Given the description of an element on the screen output the (x, y) to click on. 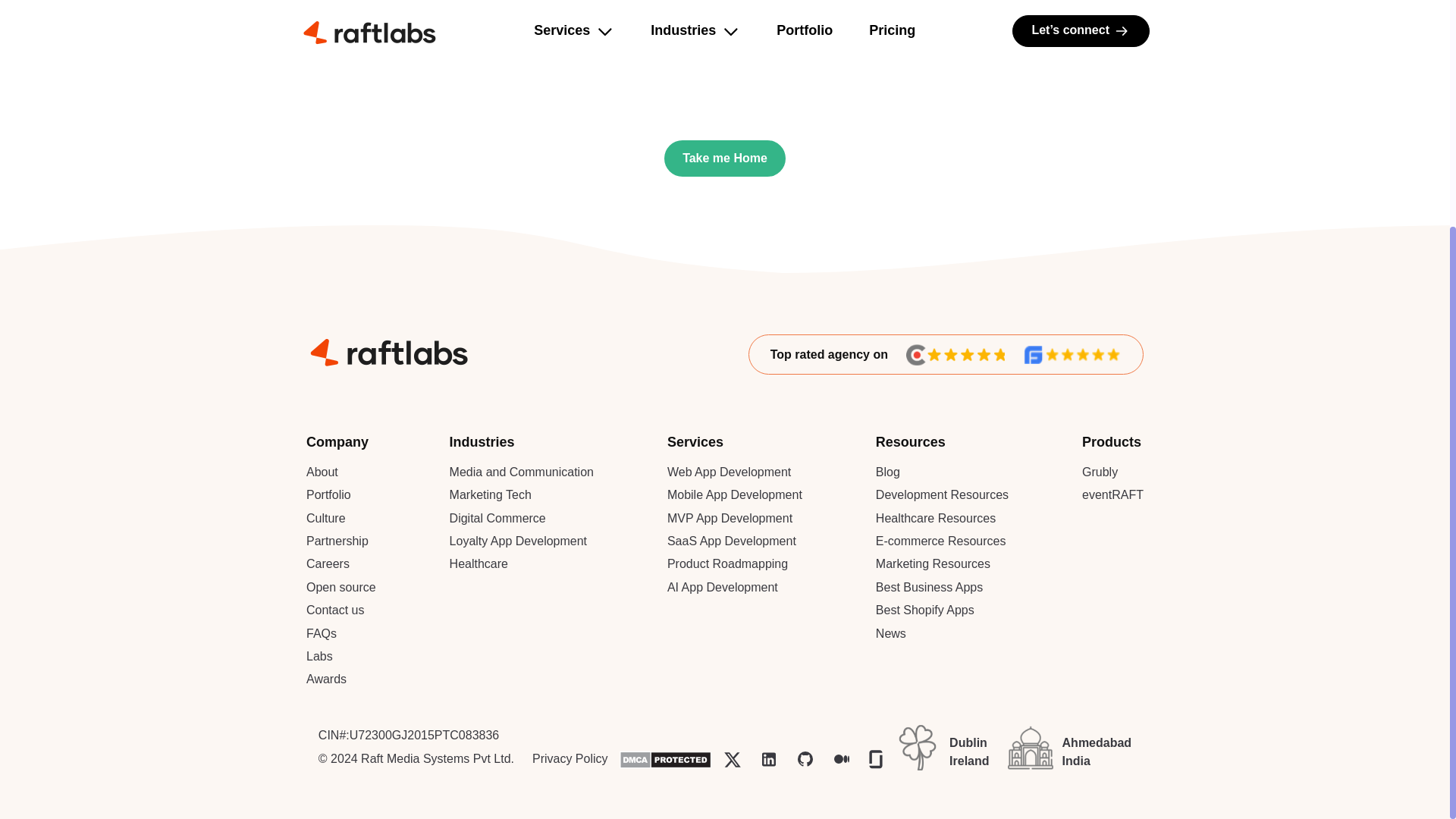
Clutch Rating (954, 354)
GoodFirms rating (1072, 354)
Take me Home (724, 158)
RaftLabs (386, 350)
Portfolio (327, 494)
About (321, 472)
